Given the description of an element on the screen output the (x, y) to click on. 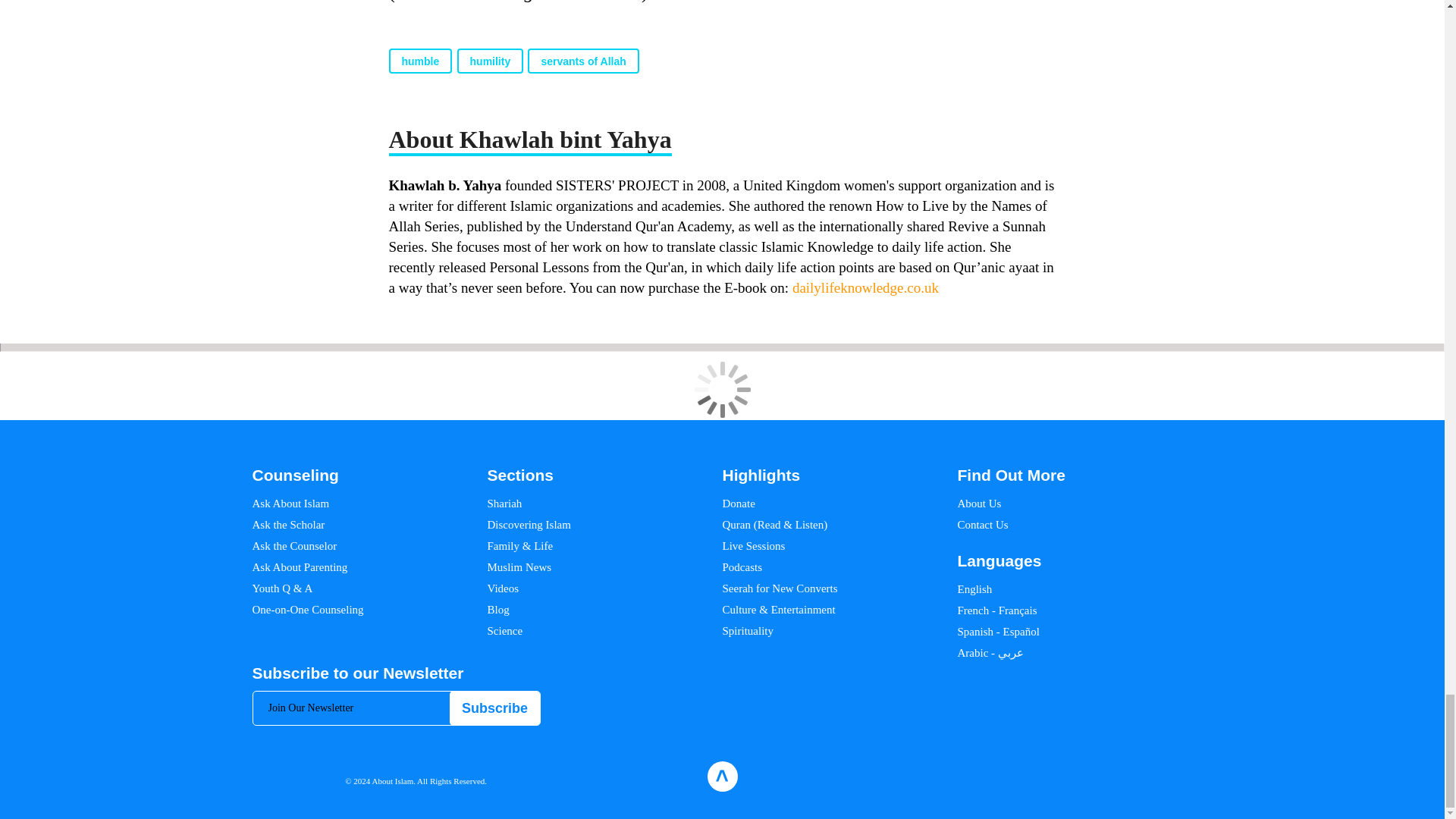
humility Tag (490, 60)
humble Tag (419, 60)
Facebook (1045, 777)
googleplus (1139, 777)
instagram (1091, 777)
Join Our Newsletter (396, 707)
pinterest (1113, 777)
Twitter (1068, 777)
youtube (1166, 777)
Subscribe (494, 708)
